Given the description of an element on the screen output the (x, y) to click on. 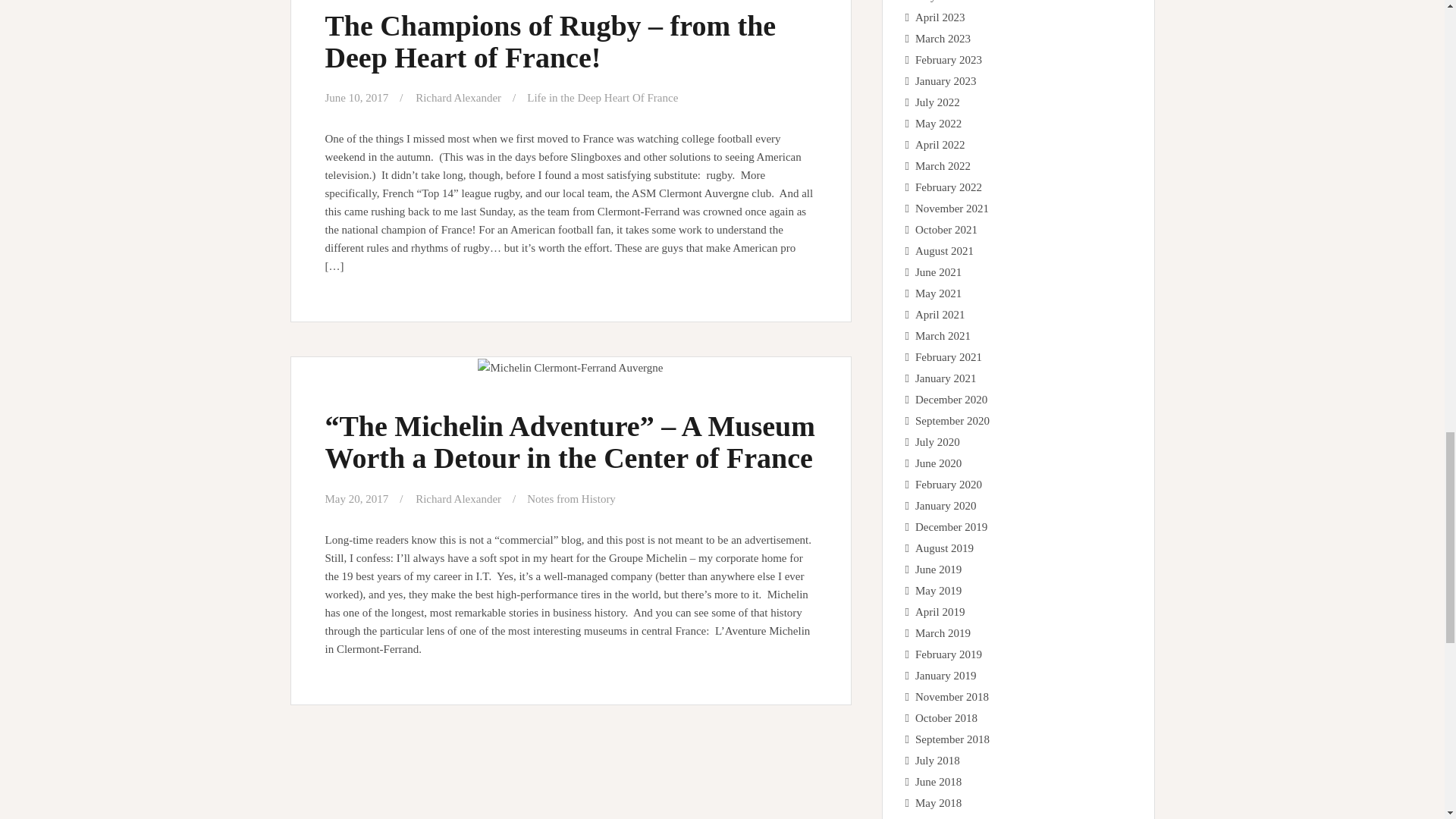
Life in the Deep Heart Of France (602, 97)
Richard Alexander (457, 97)
June 10, 2017 (356, 97)
